Given the description of an element on the screen output the (x, y) to click on. 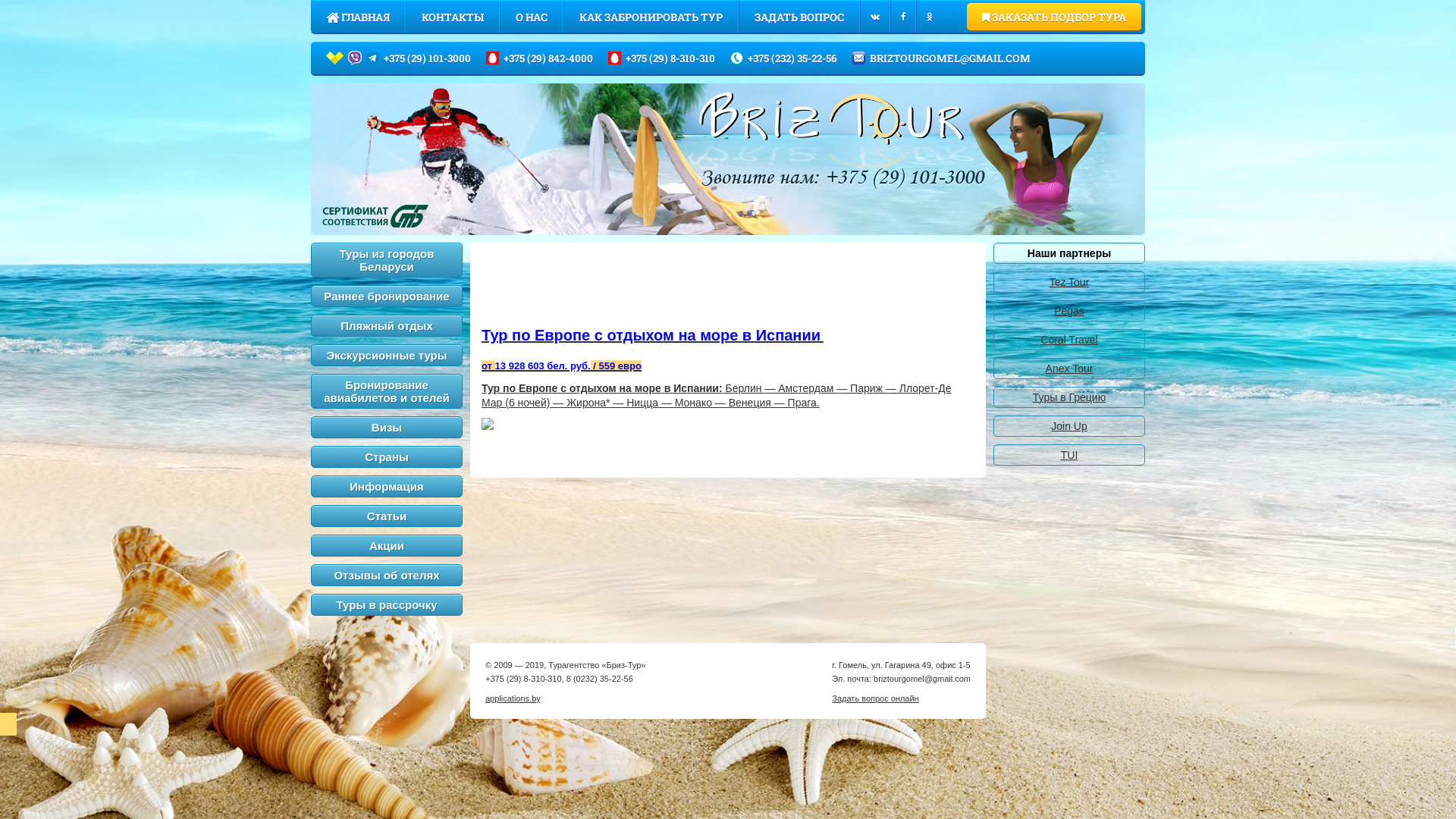
Join Up Element type: text (1069, 425)
Tez Tour Element type: text (1069, 281)
Coral Travel Element type: text (1069, 339)
TUI Element type: text (1069, 454)
Anex Tour Element type: text (1069, 368)
Pegas Element type: text (1069, 310)
applications.by Element type: text (512, 697)
